Given the description of an element on the screen output the (x, y) to click on. 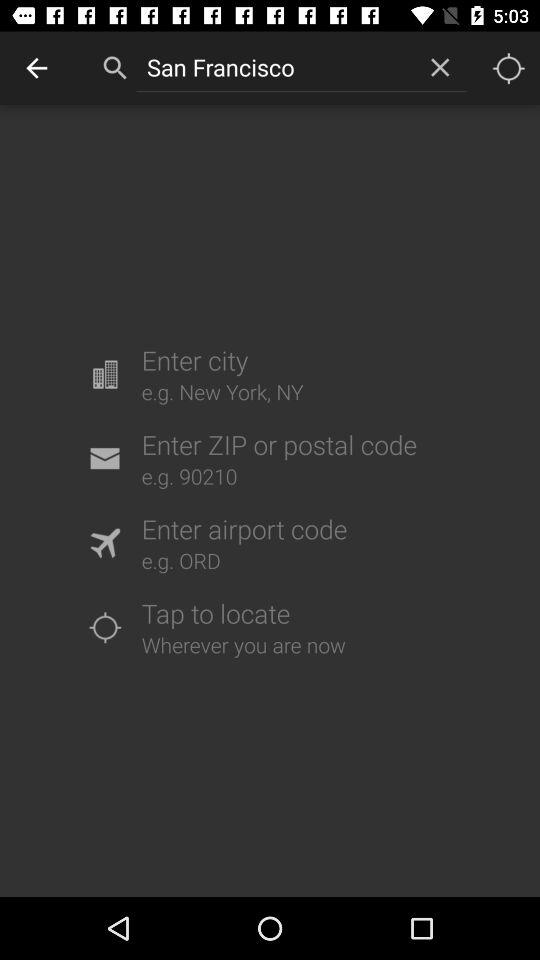
click the item to the right of san francisco item (439, 67)
